Given the description of an element on the screen output the (x, y) to click on. 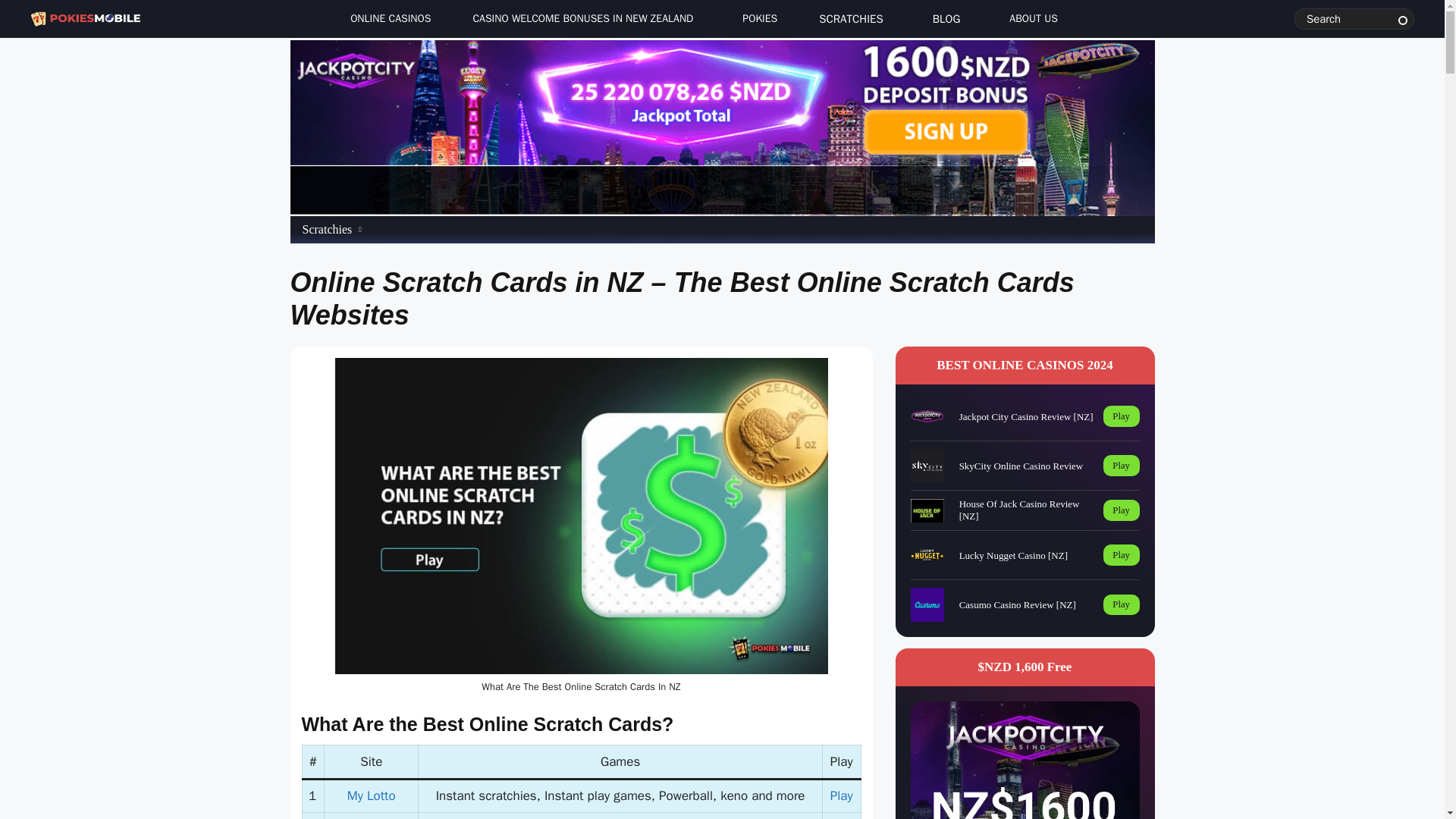
Play (841, 795)
ONLINE CASINOS (386, 18)
BLOG (946, 20)
Scratchies (326, 229)
ABOUT US (1029, 18)
POKIES (755, 18)
CASINO WELCOME BONUSES IN NEW ZEALAND (582, 20)
Go to the Scratchies category archives. (326, 229)
My Lotto (371, 795)
SCRATCHIES (850, 20)
